Given the description of an element on the screen output the (x, y) to click on. 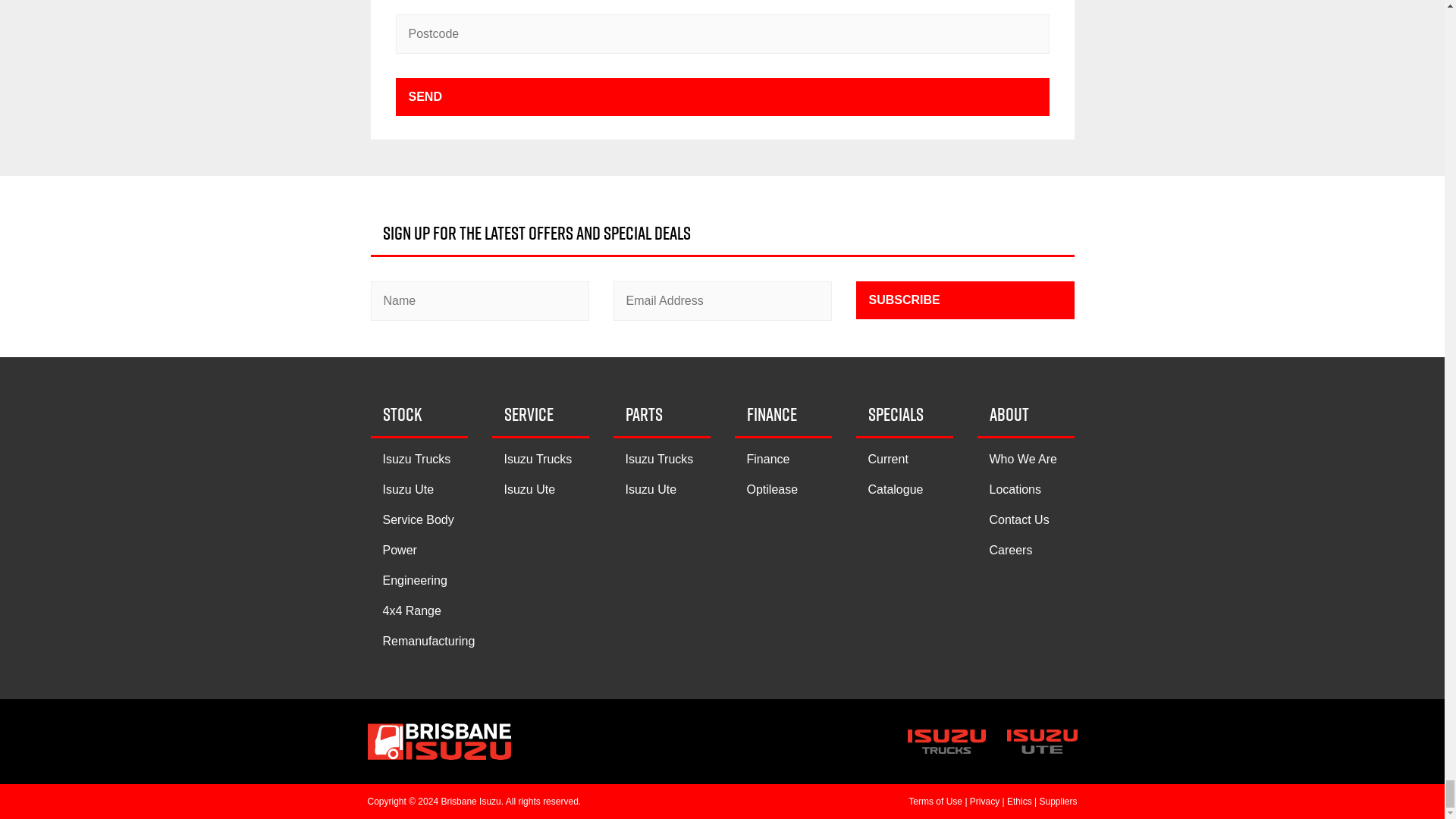
Power (398, 549)
Isuzu Ute (407, 489)
SEND (722, 96)
Isuzu Trucks (415, 459)
SUBSCRIBE (965, 300)
Service Body (416, 519)
4x4 Range (411, 610)
Engineering (413, 580)
